Given the description of an element on the screen output the (x, y) to click on. 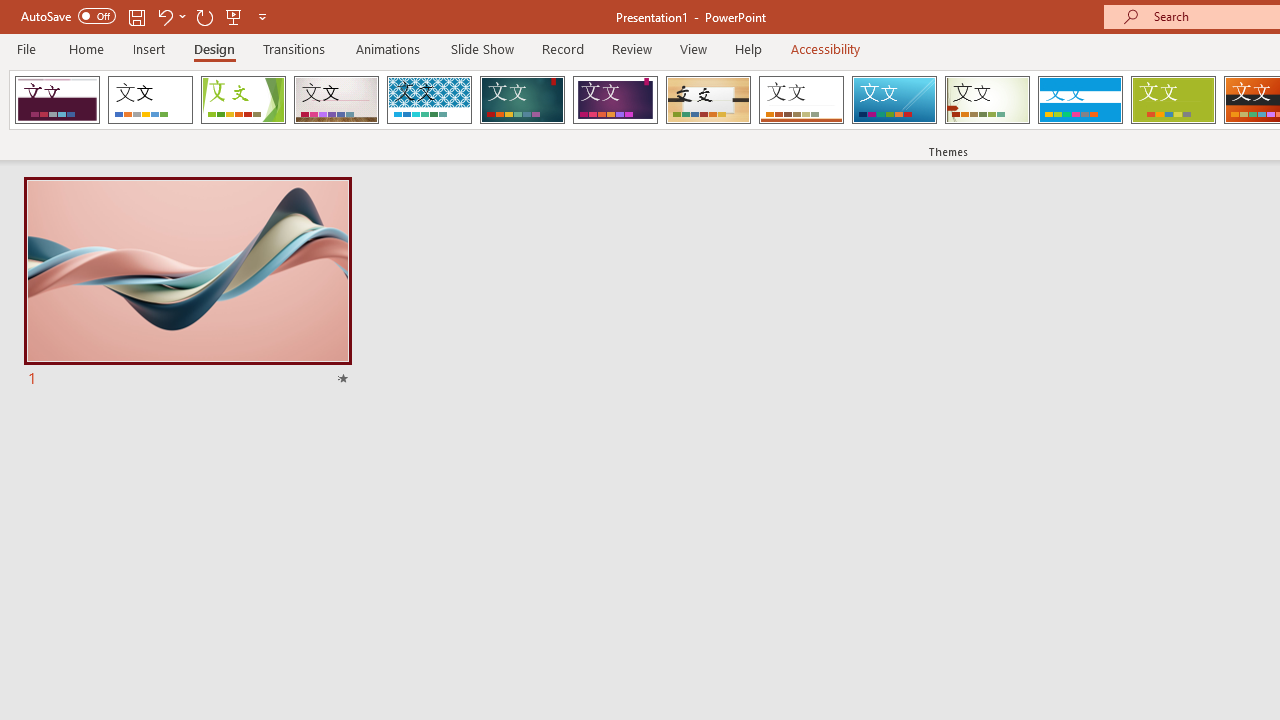
Banded (1080, 100)
Office Theme (150, 100)
Wisp (987, 100)
Facet (243, 100)
